Given the description of an element on the screen output the (x, y) to click on. 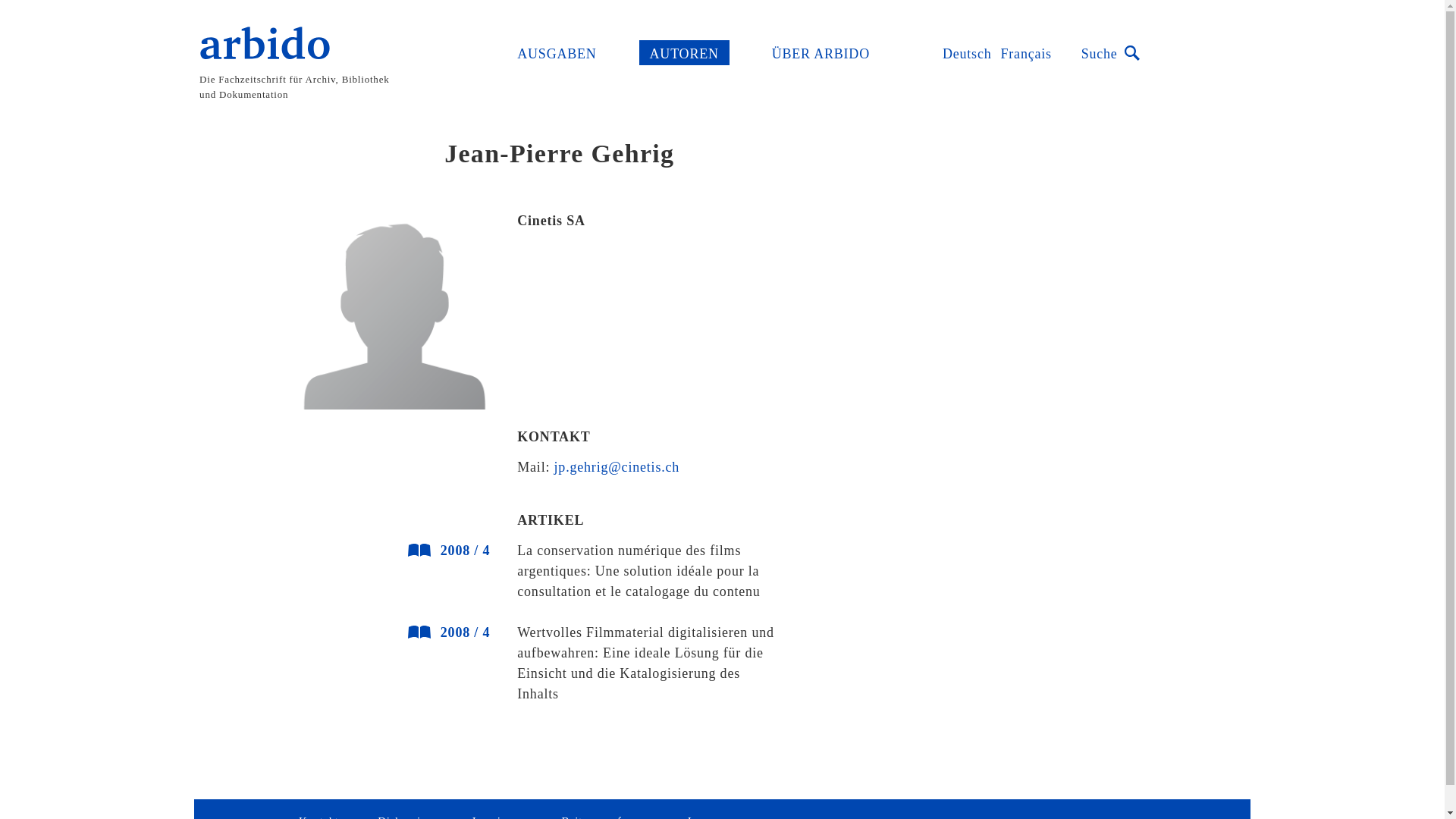
Deutsch Element type: text (966, 52)
2008 / 4 Element type: text (430, 632)
AUSGABEN Element type: text (556, 52)
jp.gehrig@cinetis.ch Element type: text (617, 466)
2008 / 4 Element type: text (430, 550)
AUTOREN Element type: text (684, 52)
Suche Element type: text (1108, 52)
